Given the description of an element on the screen output the (x, y) to click on. 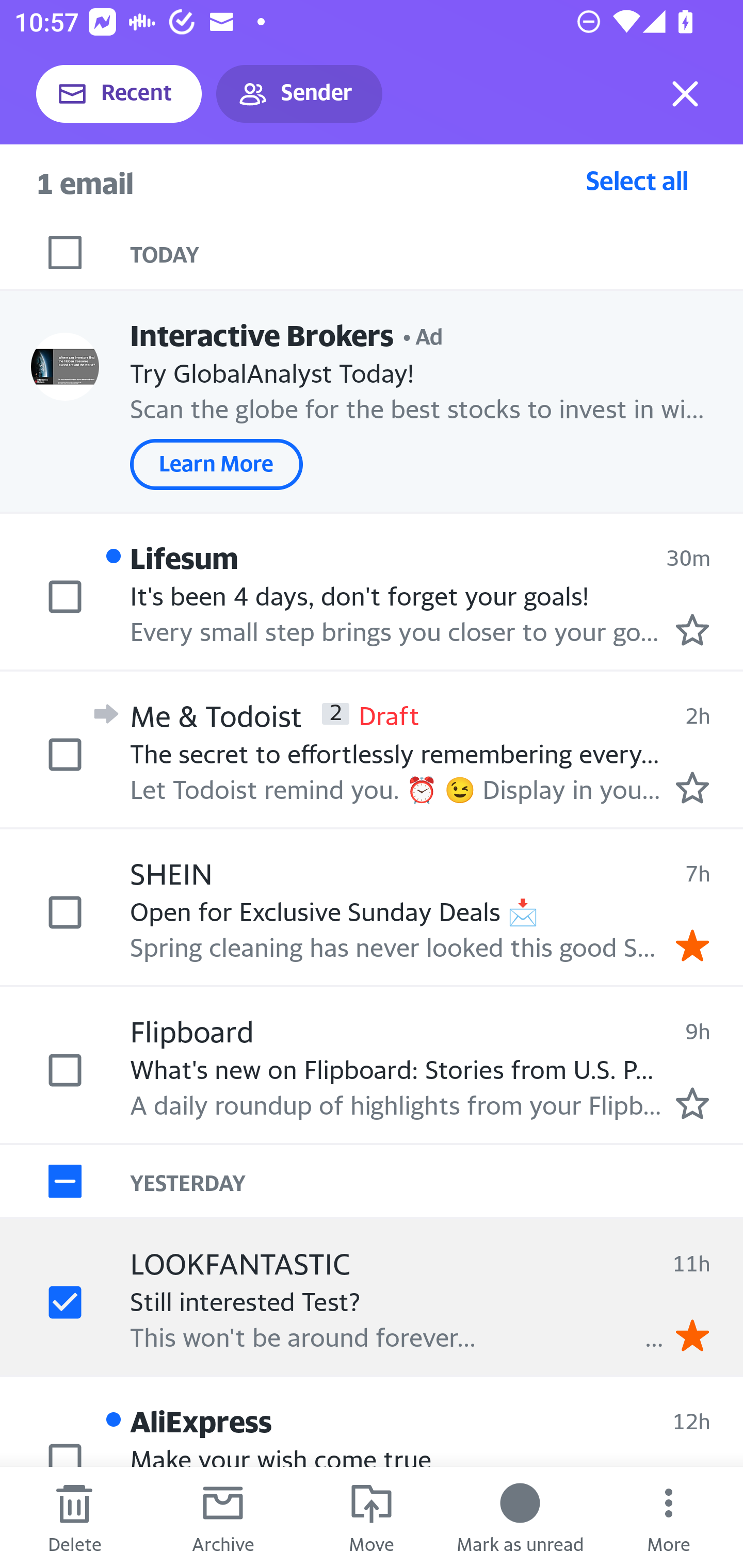
Sender (299, 93)
Exit selection mode (684, 93)
Select all (637, 180)
TODAY (436, 252)
Mark as starred. (692, 629)
Mark as starred. (692, 787)
Remove star. (692, 944)
Mark as starred. (692, 1103)
YESTERDAY (436, 1181)
Remove star. (692, 1335)
Delete (74, 1517)
Archive (222, 1517)
Move (371, 1517)
Mark as unread (519, 1517)
More (668, 1517)
